Given the description of an element on the screen output the (x, y) to click on. 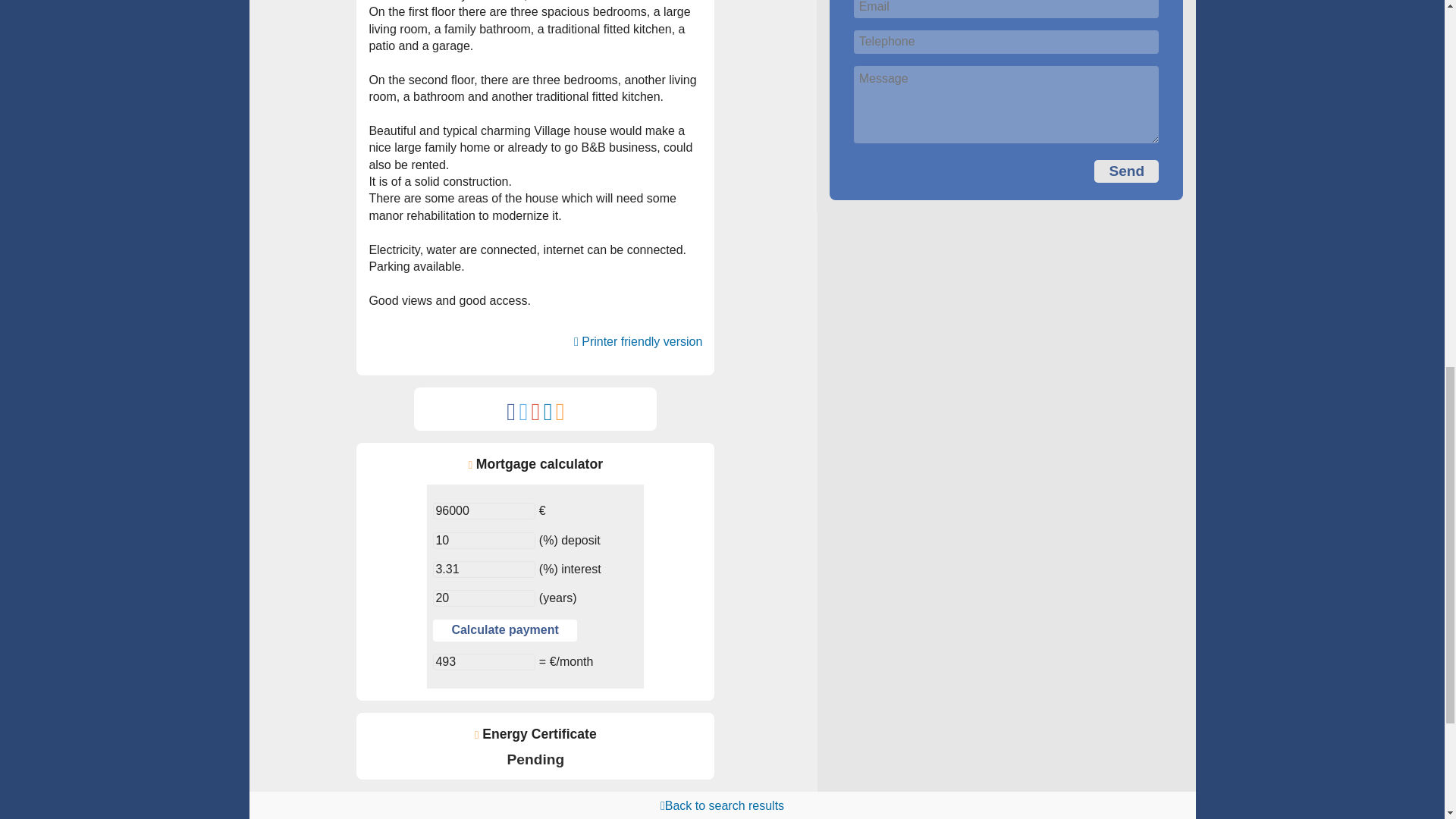
Back to search results (722, 805)
493 (483, 661)
Send (1126, 170)
Send (1126, 170)
3.31 (483, 569)
96000 (483, 510)
10 (483, 540)
Calculate payment (504, 630)
20 (483, 597)
Printer friendly version (637, 341)
